Given the description of an element on the screen output the (x, y) to click on. 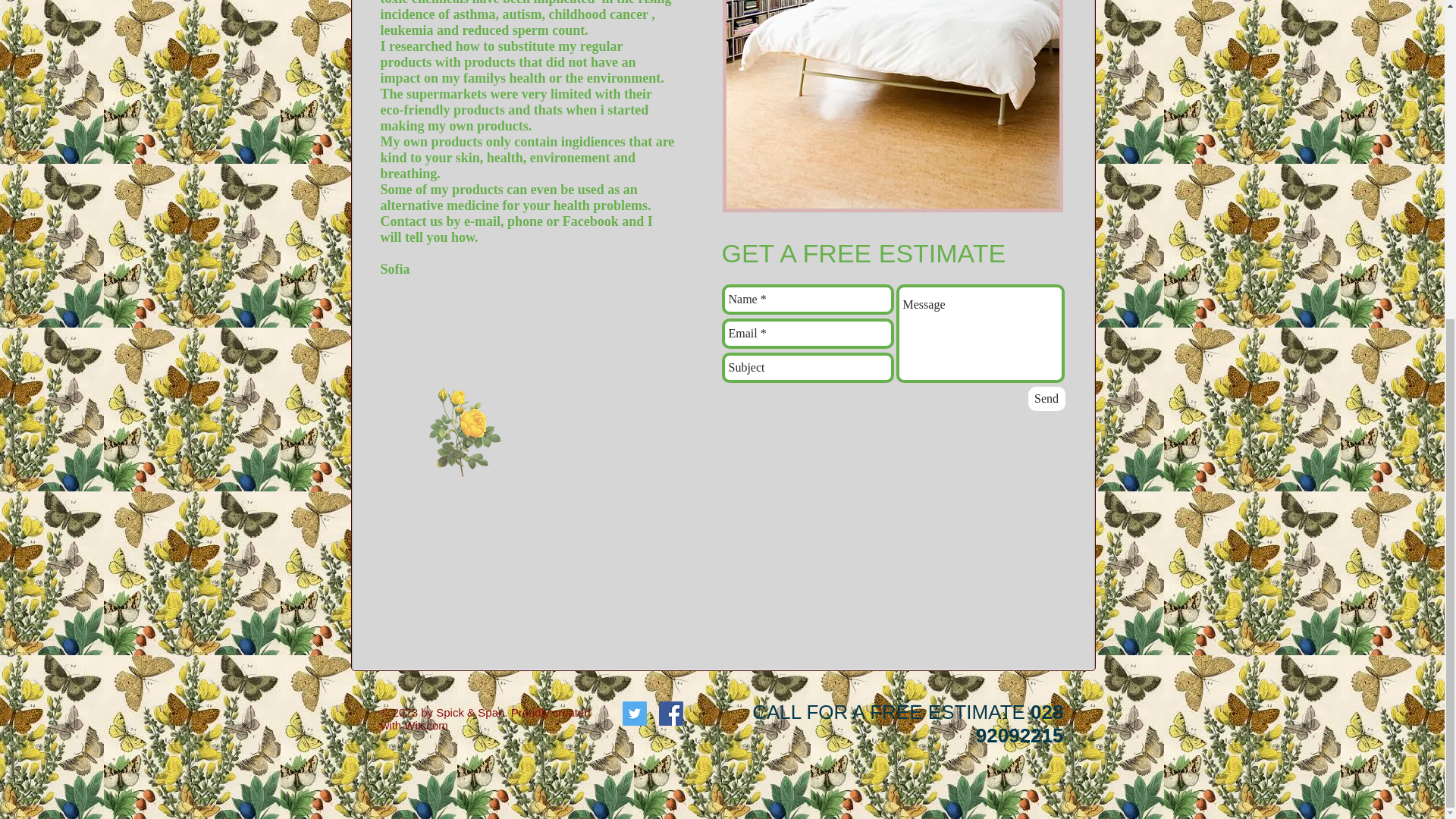
Wix.com (426, 725)
Facebook Like (417, 689)
Send (1046, 398)
